Given the description of an element on the screen output the (x, y) to click on. 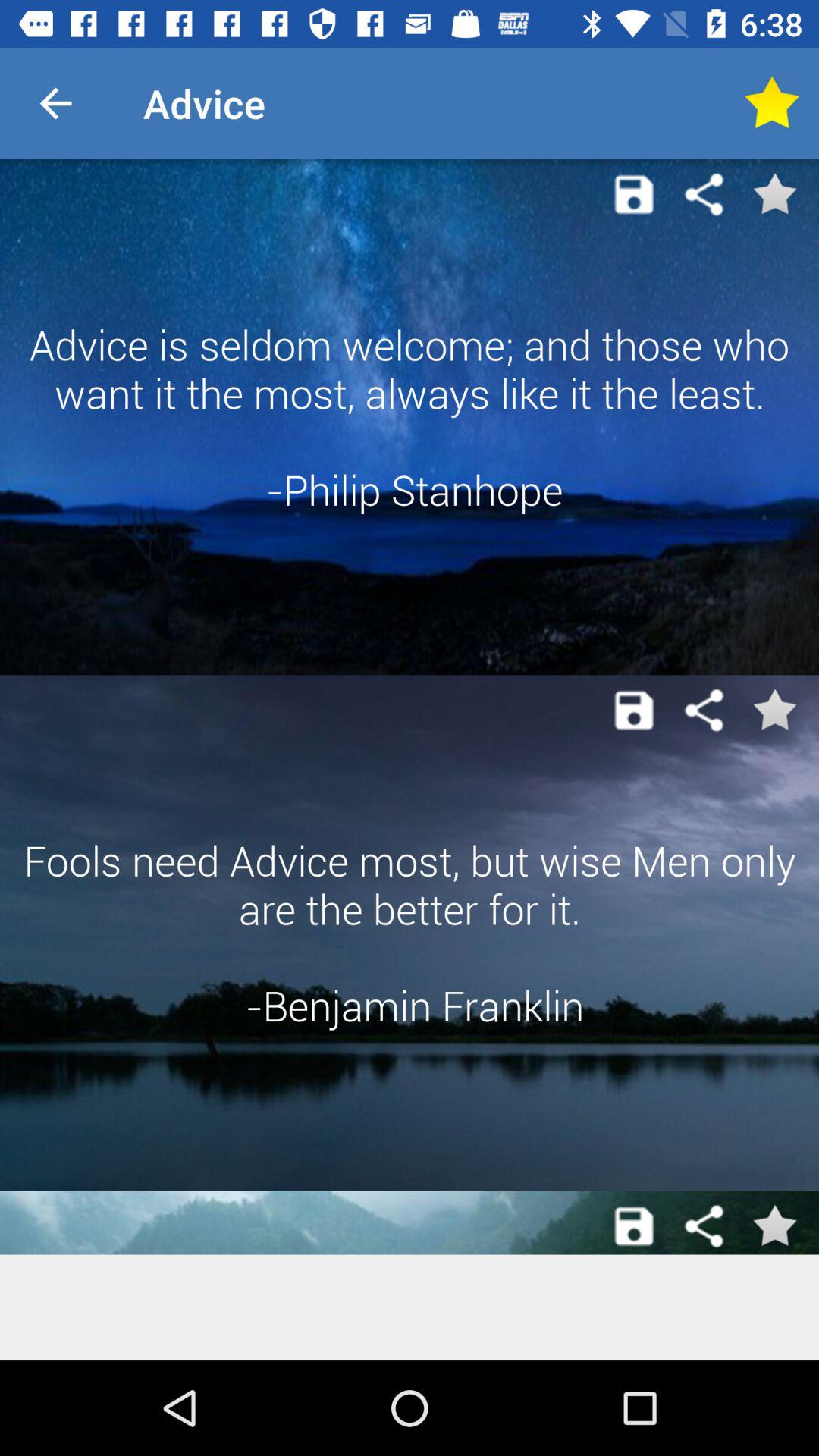
save (634, 1226)
